Given the description of an element on the screen output the (x, y) to click on. 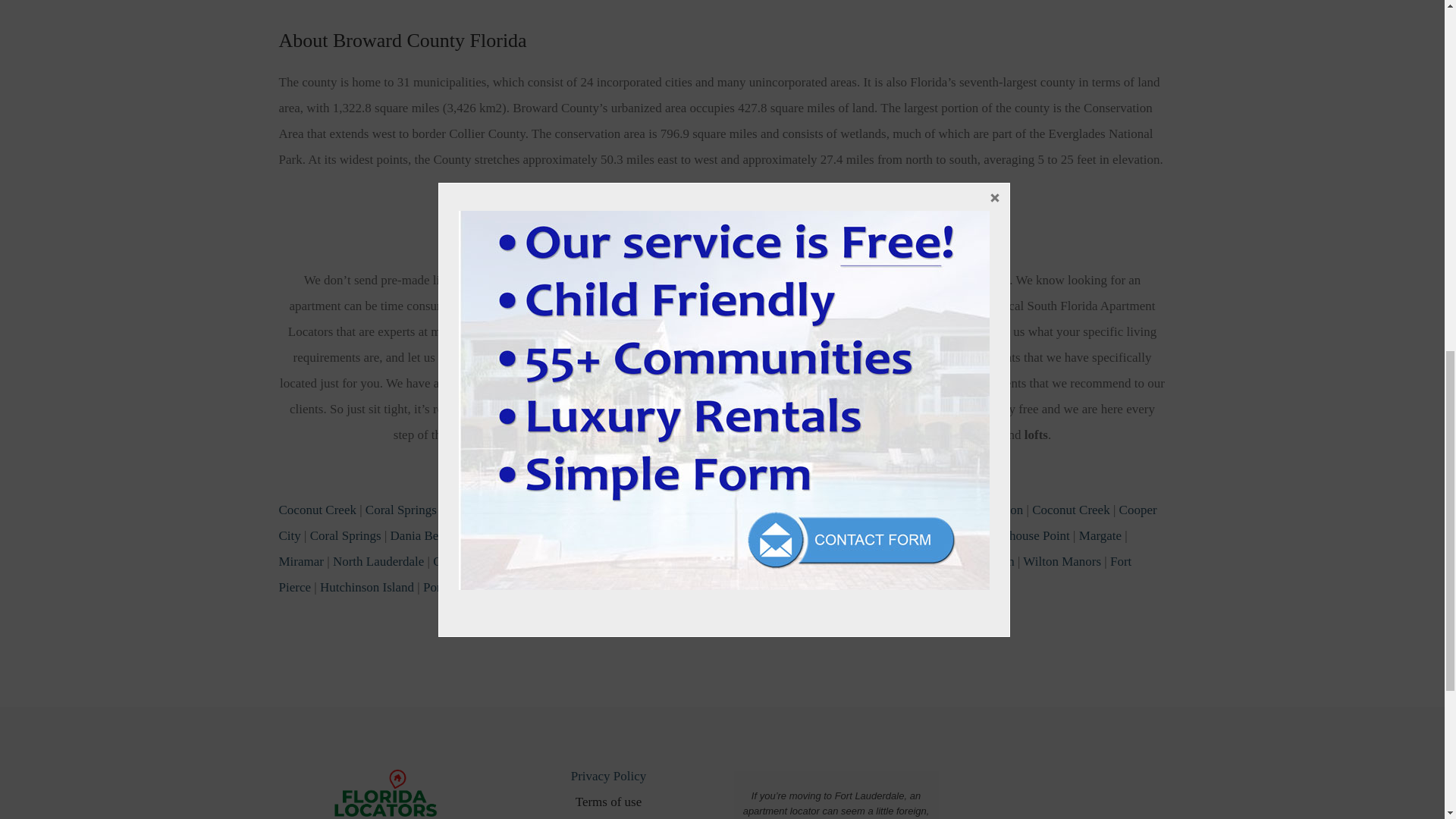
Coral Springs (345, 535)
Cooper City (718, 522)
Pompano Beach (886, 509)
Coconut Creek (317, 509)
Deerfield Beach (507, 535)
Hallandale Beach (695, 535)
Pembroke Pines (792, 509)
Deerfield Beach (487, 509)
Miramar (719, 509)
Fort Lauderdale (579, 509)
Fort Lauderdale (600, 535)
Coral Springs (400, 509)
Coconut Creek (1070, 509)
Weston (1004, 509)
Sunrise (956, 509)
